Given the description of an element on the screen output the (x, y) to click on. 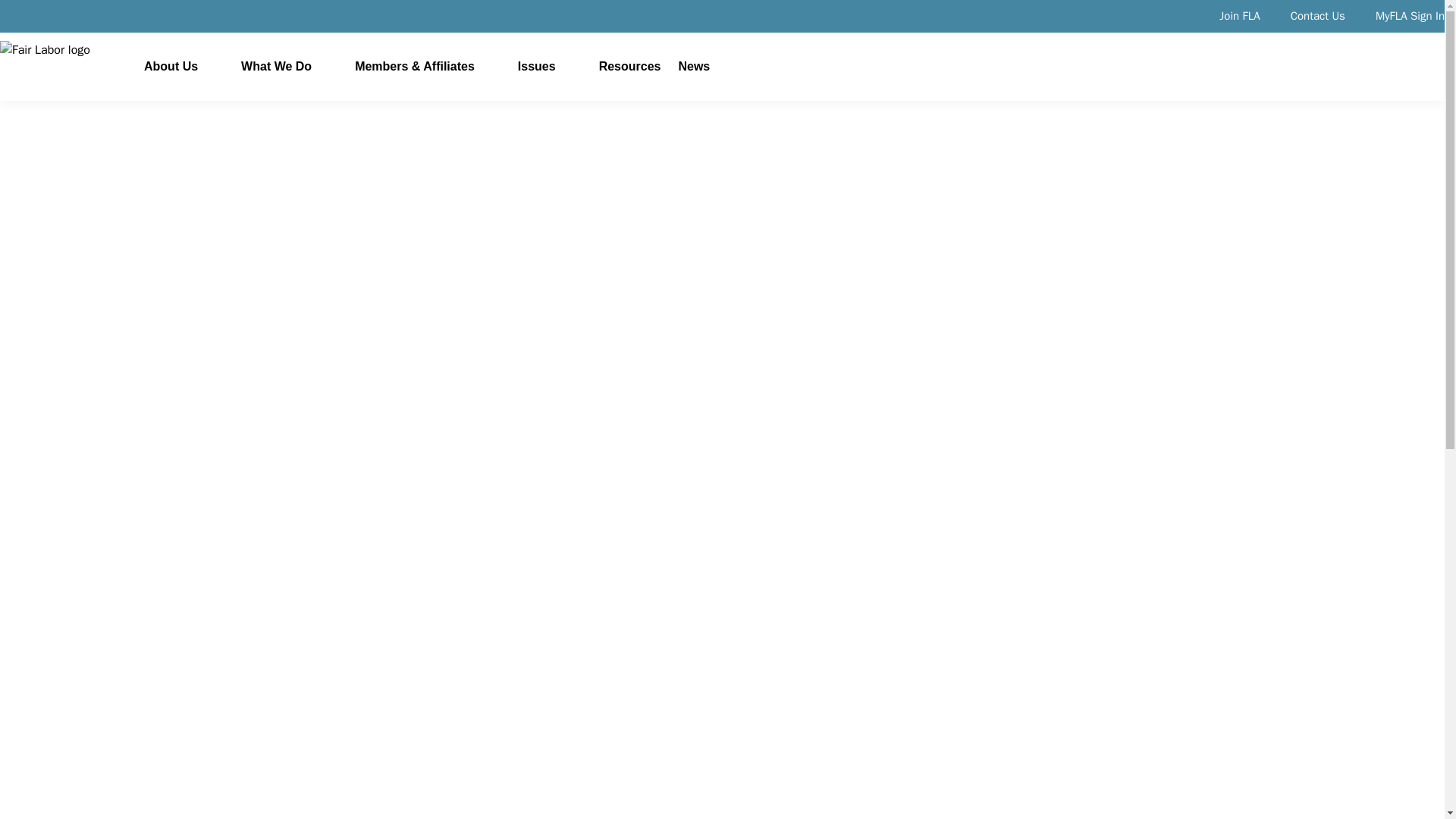
Join FLA (1239, 15)
Contact Us (1317, 15)
Resources (629, 65)
What We Do (276, 65)
